Given the description of an element on the screen output the (x, y) to click on. 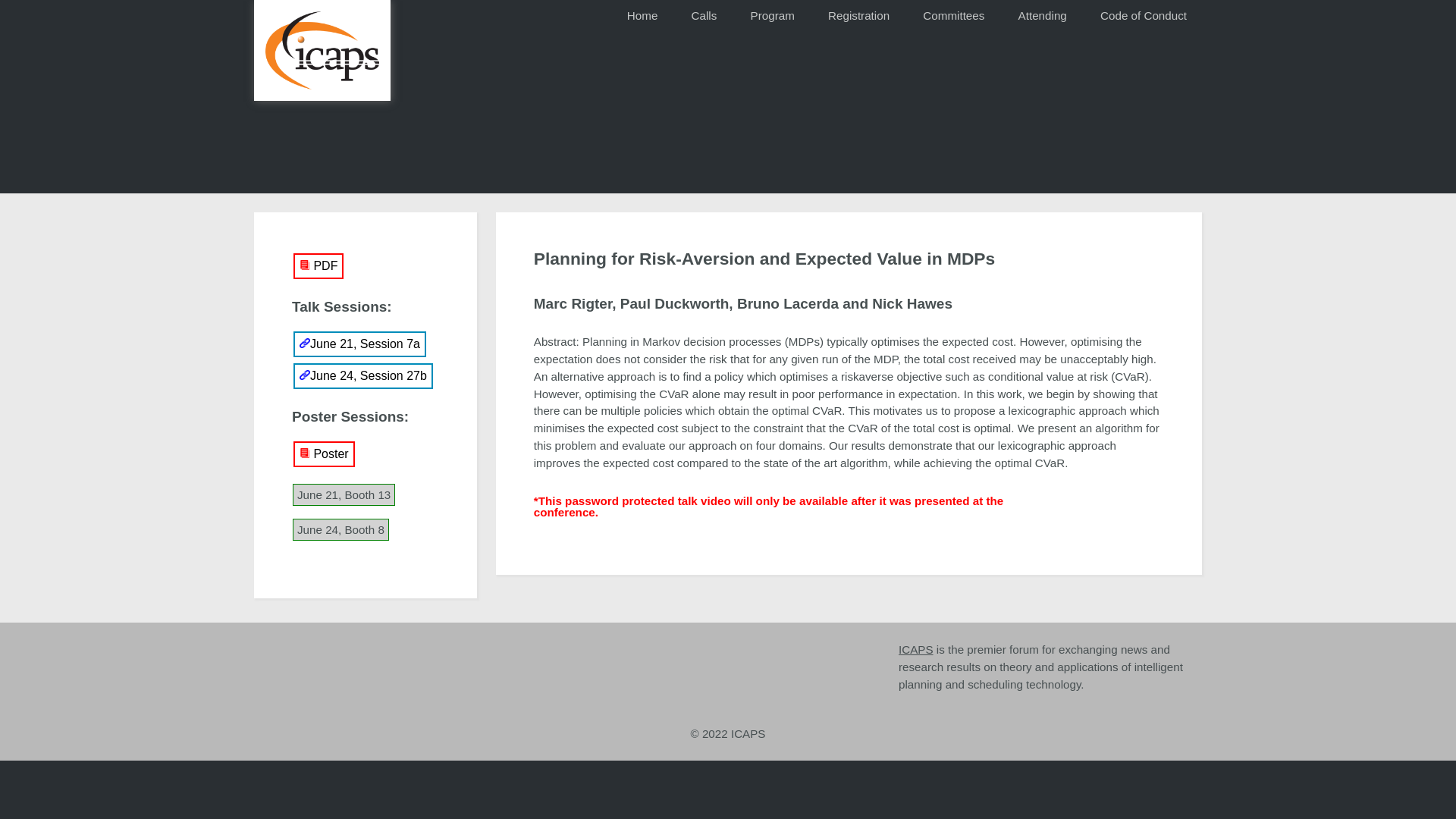
Attending (1042, 16)
Calls (704, 16)
June 21, Session 7a (360, 344)
PDF (318, 266)
Program (772, 16)
Poster (324, 453)
June 24, Session 27b (363, 376)
Registration (858, 16)
Home (641, 16)
Code of Conduct (1143, 16)
Committees (952, 16)
ICAPS (915, 649)
